Given the description of an element on the screen output the (x, y) to click on. 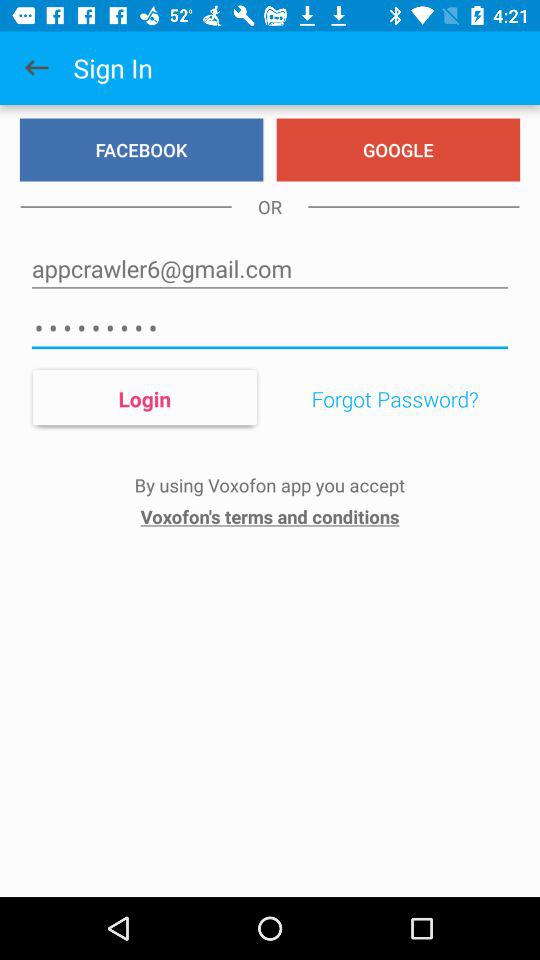
click the icon below crowd3116 (144, 398)
